Given the description of an element on the screen output the (x, y) to click on. 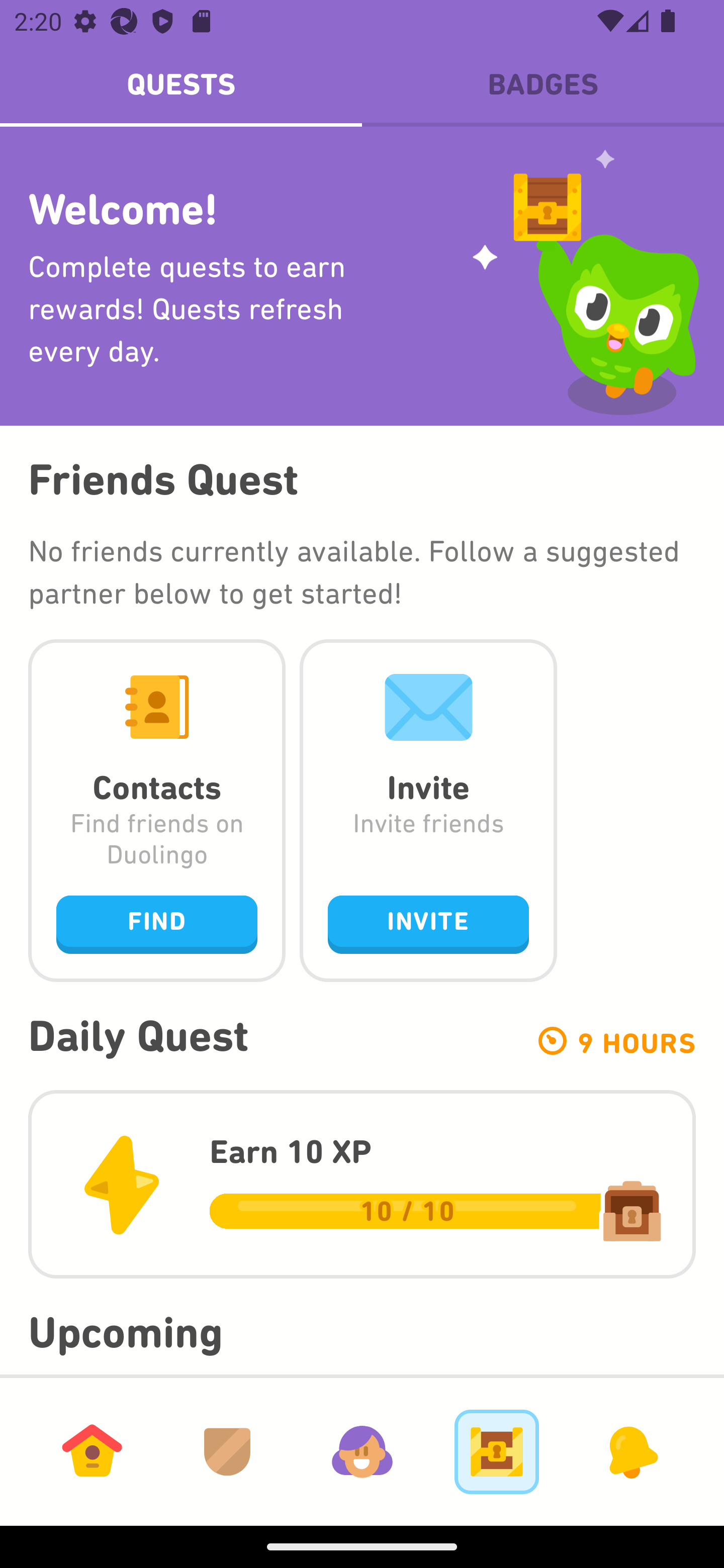
BADGES (543, 84)
FIND (156, 924)
INVITE (428, 924)
Learn Tab (91, 1451)
Leagues Tab (227, 1451)
Profile Tab (361, 1451)
Goals Tab (496, 1451)
News Tab (631, 1451)
